Given the description of an element on the screen output the (x, y) to click on. 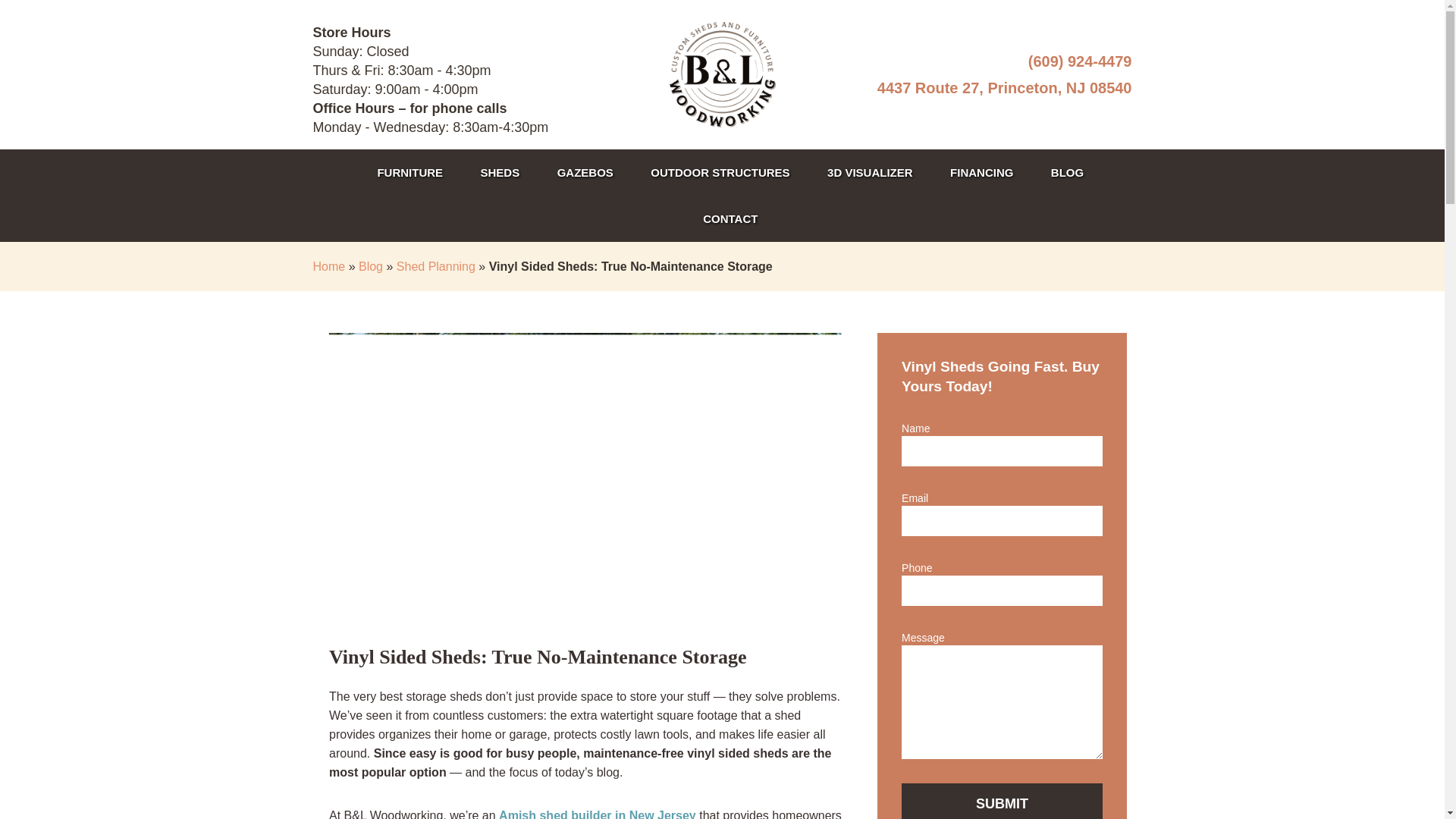
FURNITURE (409, 172)
3D VISUALIZER (870, 172)
Submit (1001, 800)
GAZEBOS (585, 172)
BLOG (1066, 172)
CONTACT (729, 218)
FINANCING (981, 172)
SHEDS (500, 172)
4437 Route 27, Princeton, NJ 08540 (959, 87)
OUTDOOR STRUCTURES (719, 172)
